Given the description of an element on the screen output the (x, y) to click on. 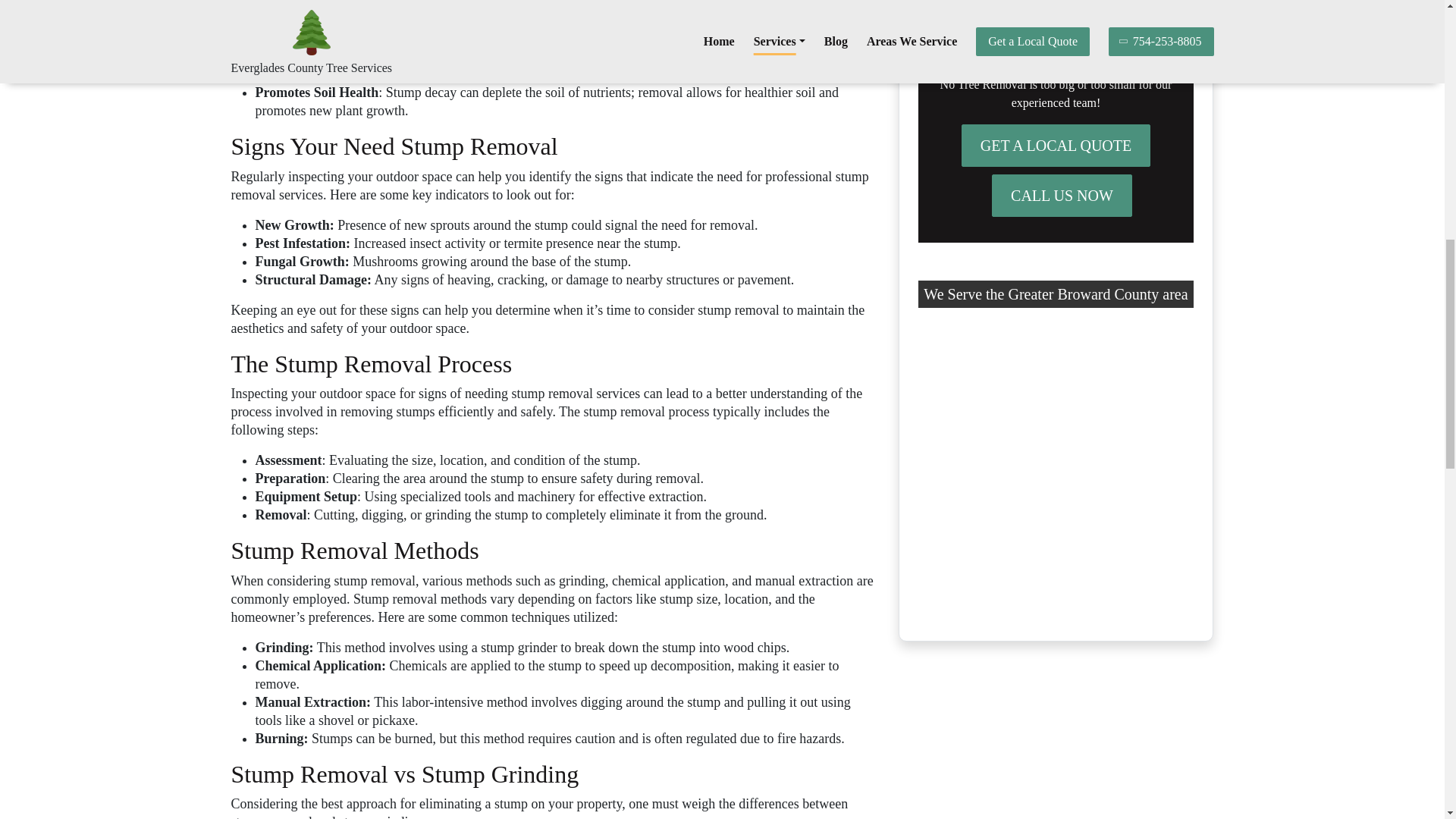
GET A LOCAL QUOTE (1055, 145)
CALL US NOW (1061, 195)
